Given the description of an element on the screen output the (x, y) to click on. 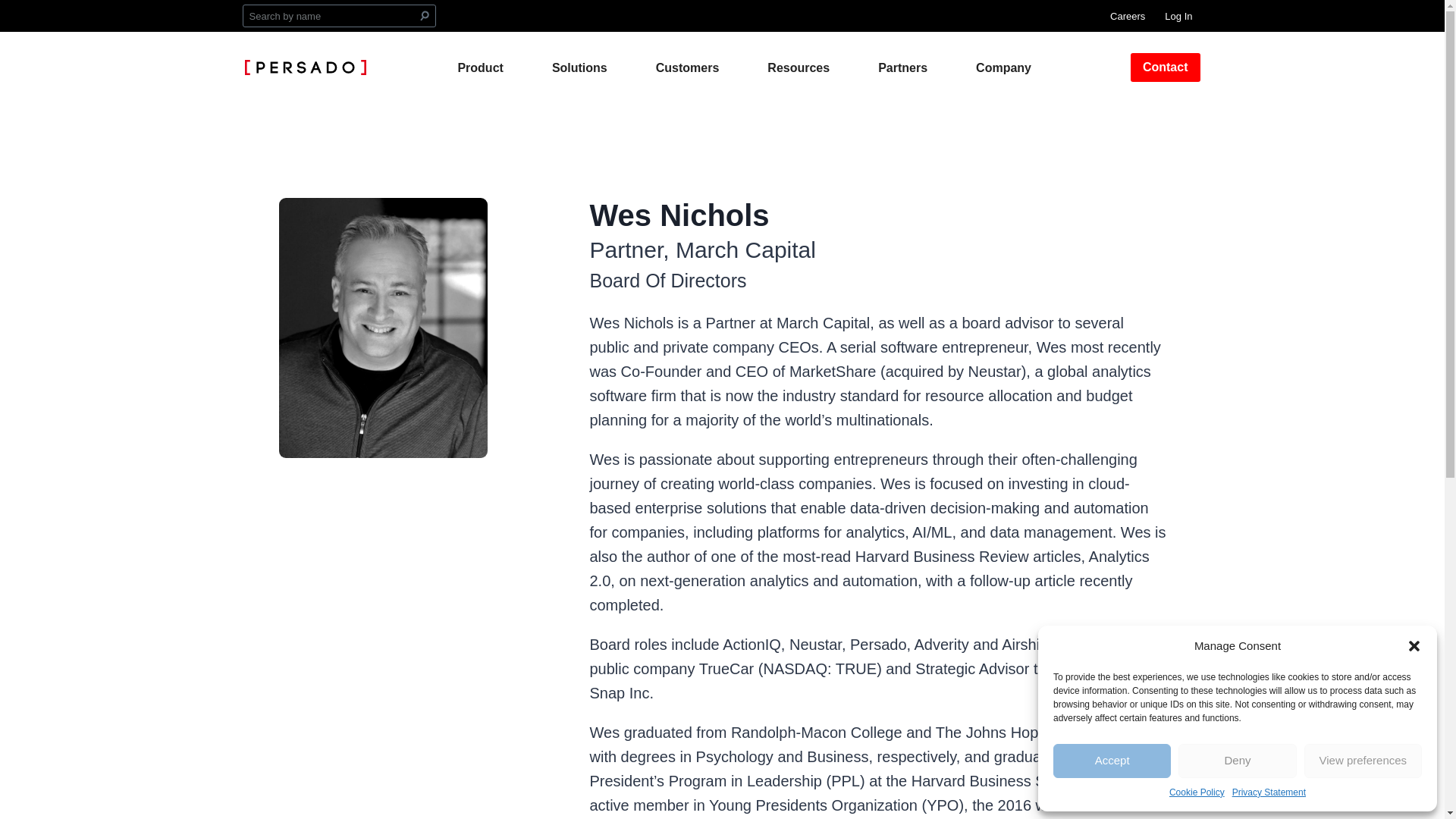
View preferences (1363, 760)
Deny (1236, 760)
Product (479, 67)
Accept (1111, 760)
Log In (1178, 15)
Cookie Policy (1196, 792)
Privacy Statement (1268, 792)
Careers (1127, 15)
